Given the description of an element on the screen output the (x, y) to click on. 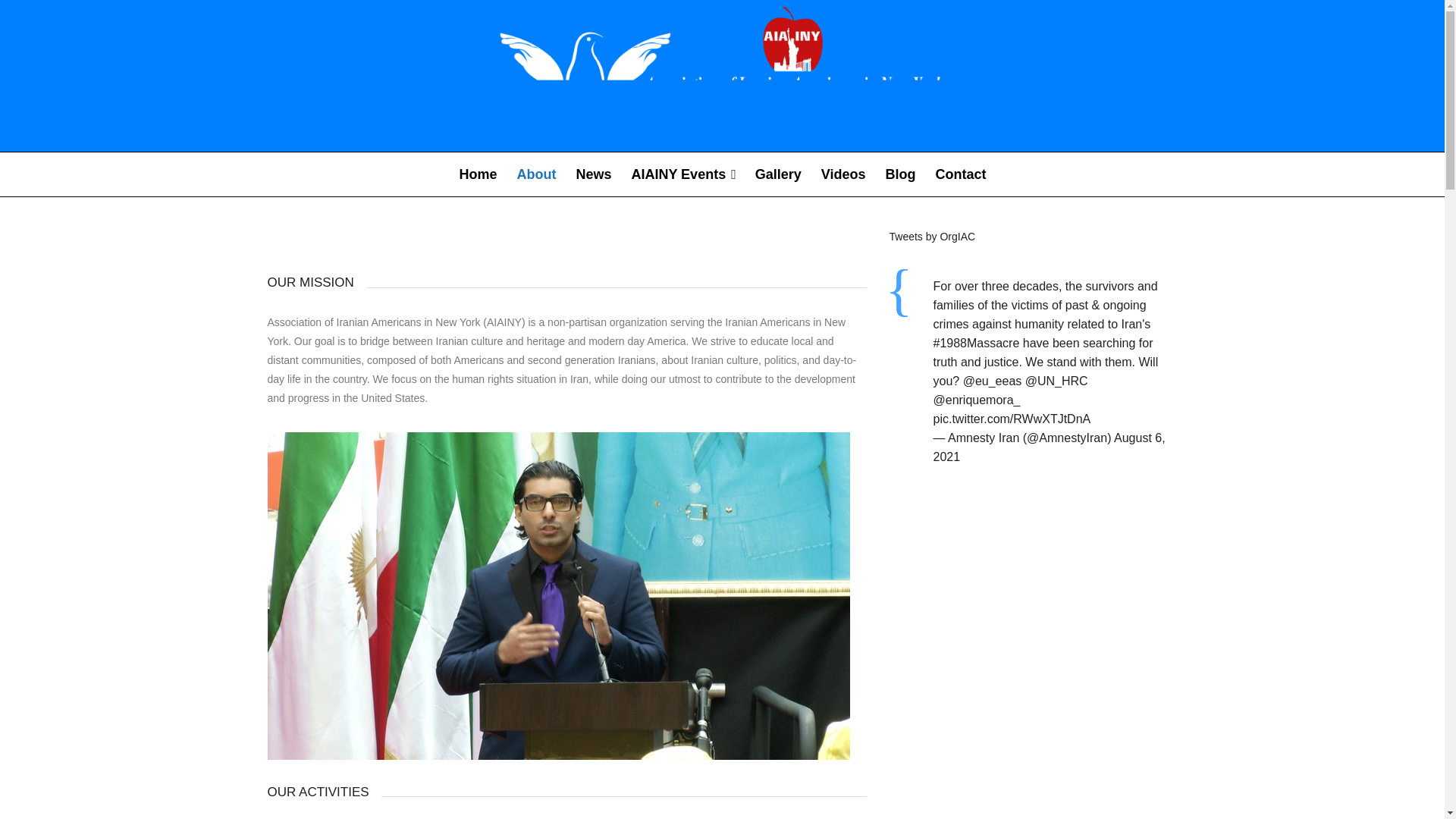
Videos (843, 174)
About (536, 174)
Blog (899, 174)
Gallery (777, 174)
Home (477, 174)
Tweets by OrgIAC (931, 236)
August 6, 2021 (1048, 447)
News (593, 174)
AIAINY Events (682, 174)
